Given the description of an element on the screen output the (x, y) to click on. 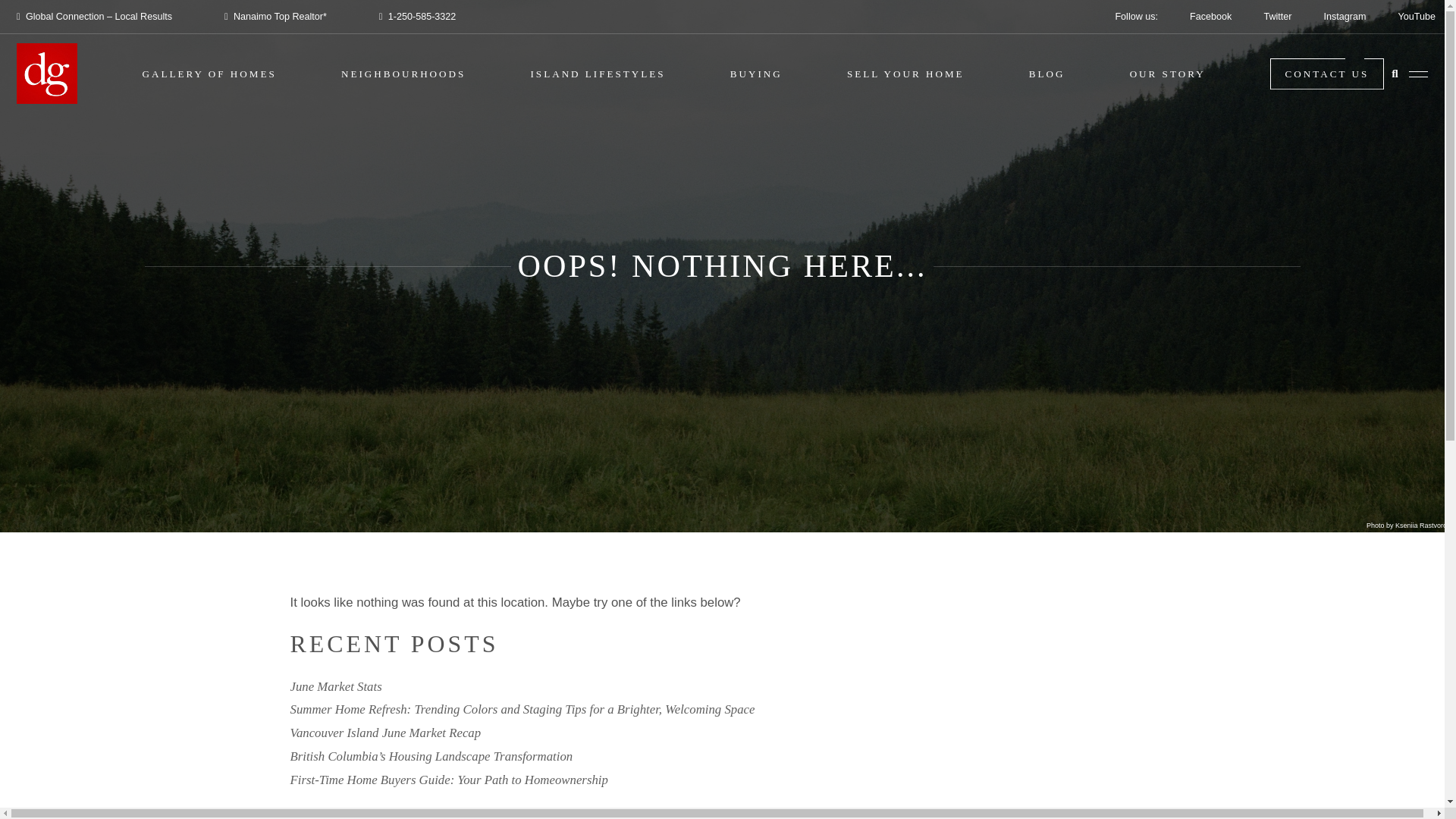
ISLAND LIFESTYLES (598, 73)
1-250-585-3322 (418, 16)
First-Time Home Buyers Guide: Your Path to Homeownership (448, 780)
BLOG (1047, 73)
Vancouver Island June Market Recap (384, 732)
SELL YOUR HOME (905, 73)
Facebook (1210, 16)
Twitter (1277, 16)
OUR STORY (1167, 73)
NEIGHBOURHOODS (402, 73)
